Given the description of an element on the screen output the (x, y) to click on. 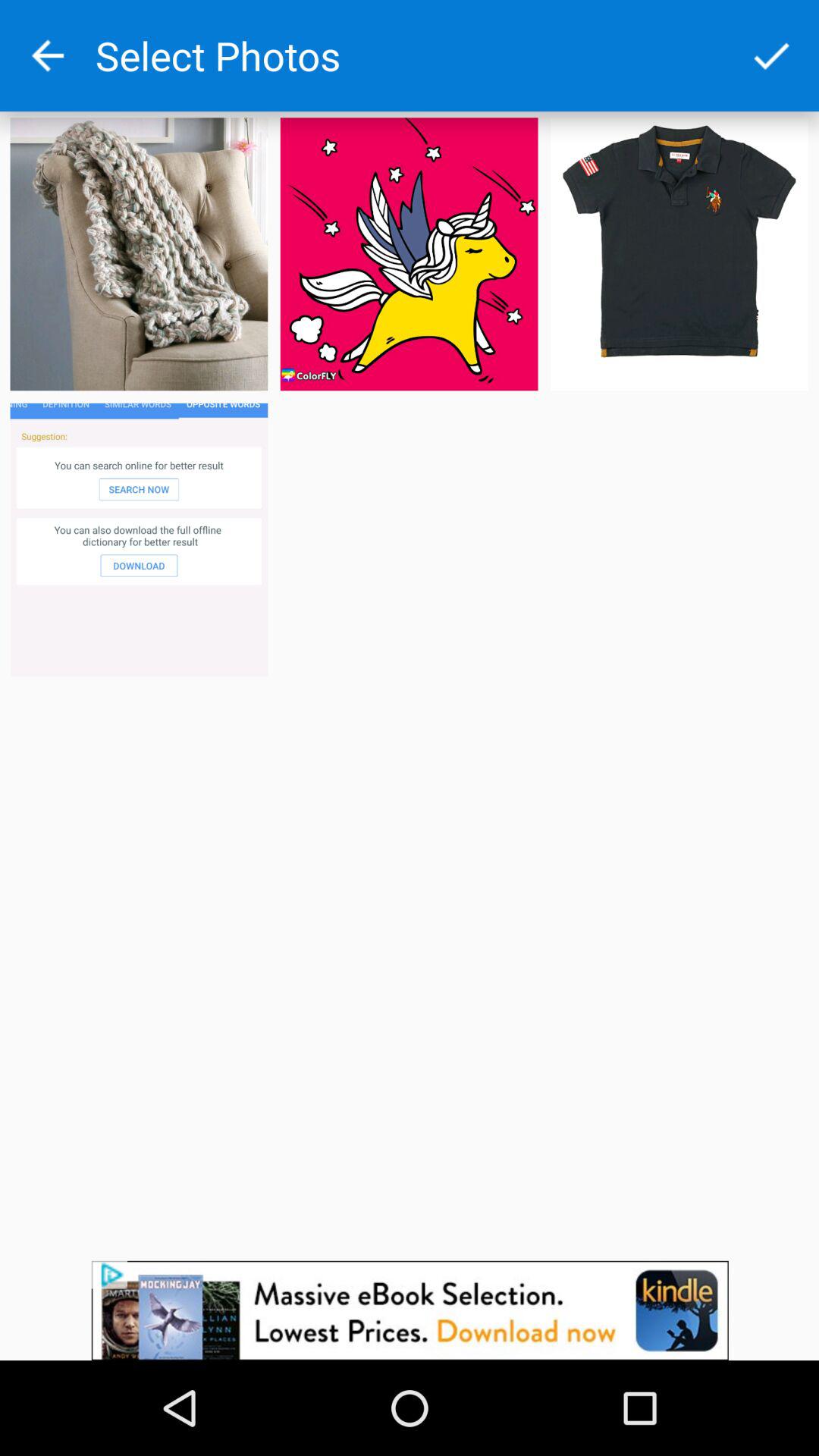
click on the third image (679, 253)
